Given the description of an element on the screen output the (x, y) to click on. 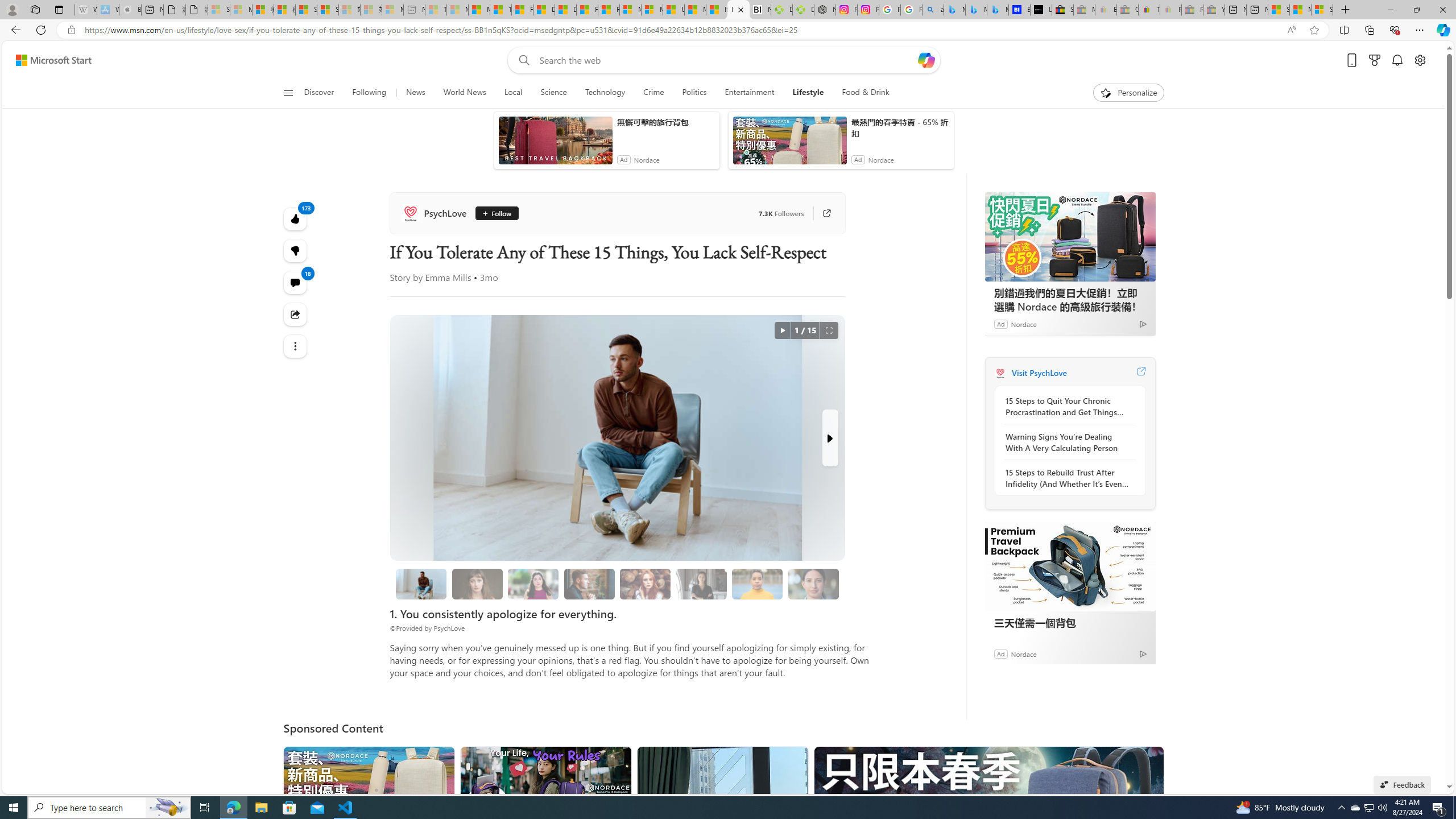
Class: progress (813, 581)
Descarga Driver Updater (802, 9)
PsychLove (435, 212)
Personalize (1128, 92)
Microsoft account | Account Checkup - Sleeping (392, 9)
World News (464, 92)
Class: at-item (295, 345)
autorotate button (782, 330)
